Given the description of an element on the screen output the (x, y) to click on. 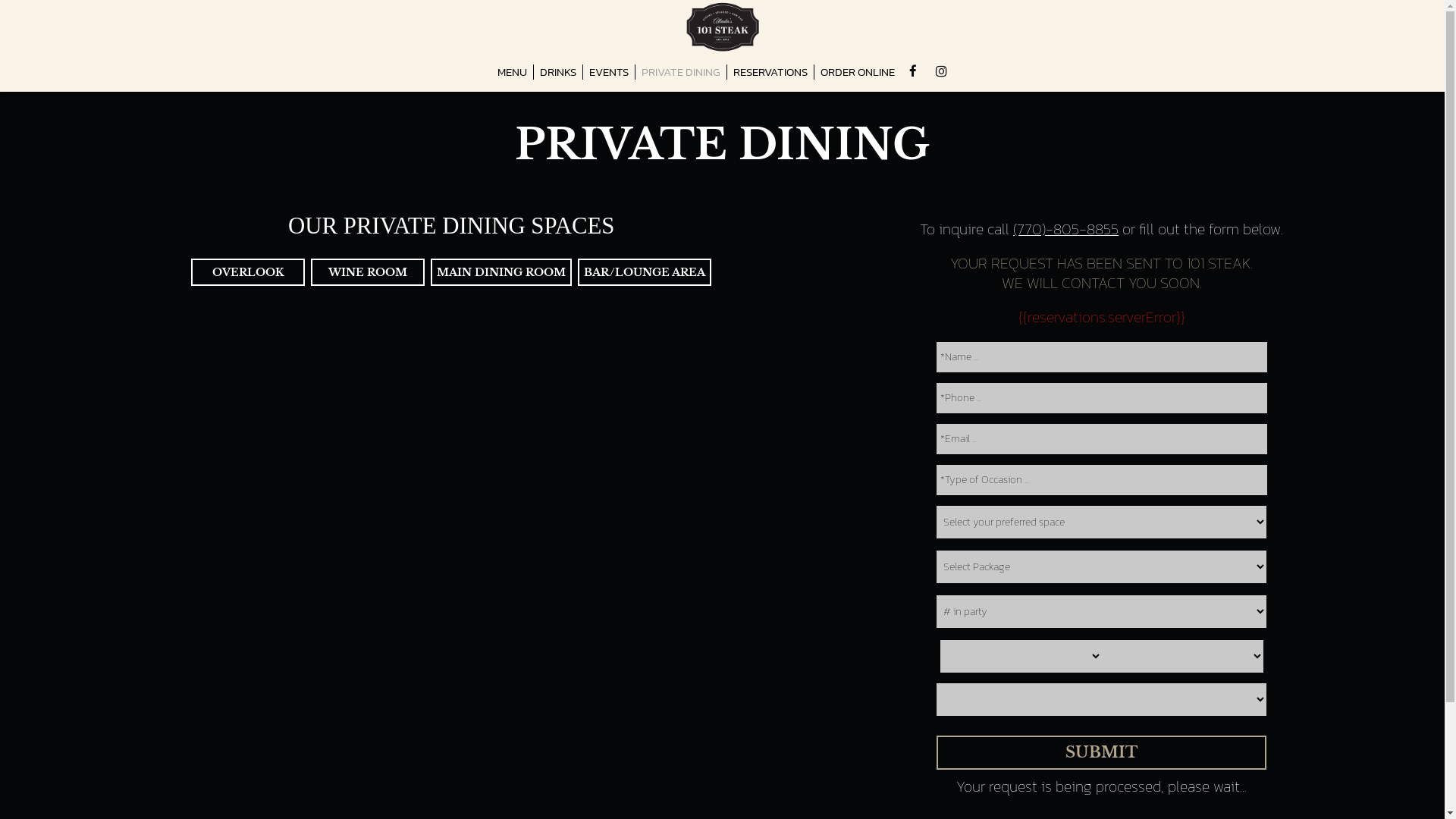
OVERLOOK Element type: text (247, 271)
ORDER ONLINE Element type: text (857, 71)
SUBMIT Element type: text (1101, 752)
EVENTS Element type: text (609, 71)
MENU Element type: text (512, 71)
MAIN DINING ROOM Element type: text (500, 271)
RESERVATIONS Element type: text (770, 71)
PRIVATE DINING Element type: text (681, 71)
DRINKS Element type: text (558, 71)
BAR/LOUNGE AREA Element type: text (644, 271)
WINE ROOM Element type: text (367, 271)
(770)-805-8855 Element type: text (1065, 228)
